Given the description of an element on the screen output the (x, y) to click on. 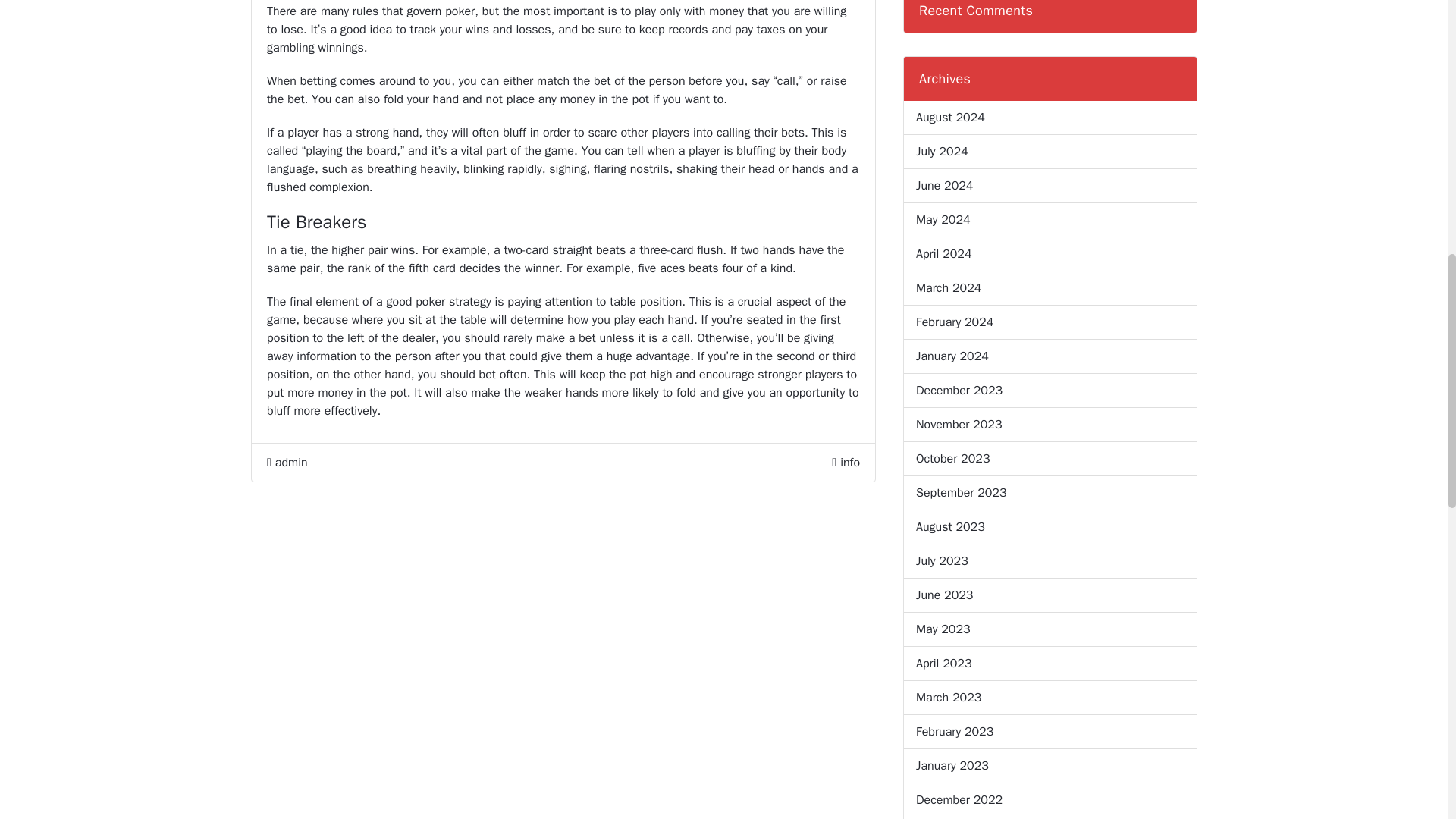
September 2023 (961, 493)
January 2024 (951, 356)
December 2023 (959, 390)
July 2023 (941, 561)
info (850, 462)
November 2023 (958, 424)
June 2024 (943, 185)
May 2023 (943, 628)
March 2024 (948, 288)
July 2024 (941, 151)
